Given the description of an element on the screen output the (x, y) to click on. 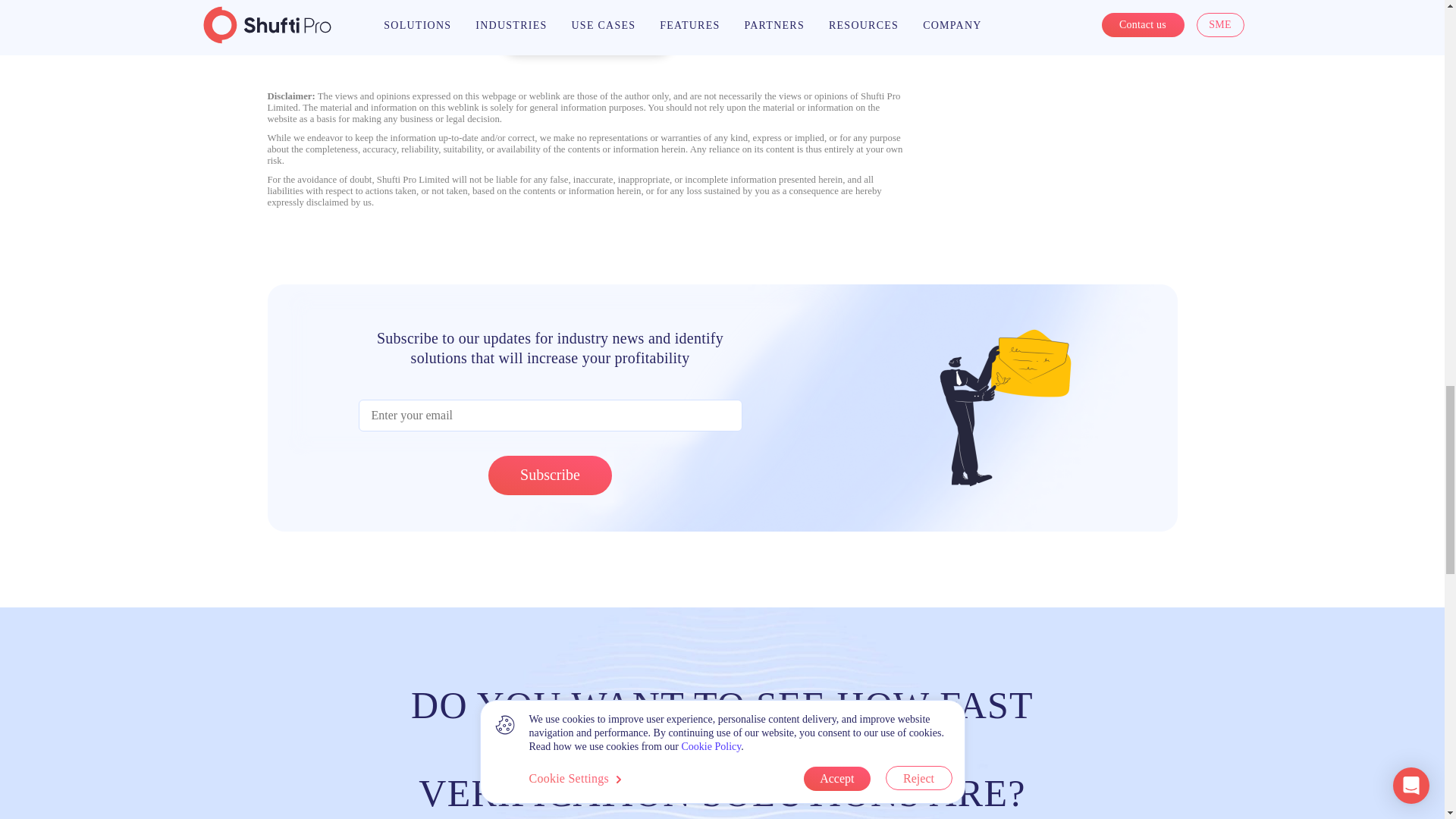
Subscribe (549, 475)
